Given the description of an element on the screen output the (x, y) to click on. 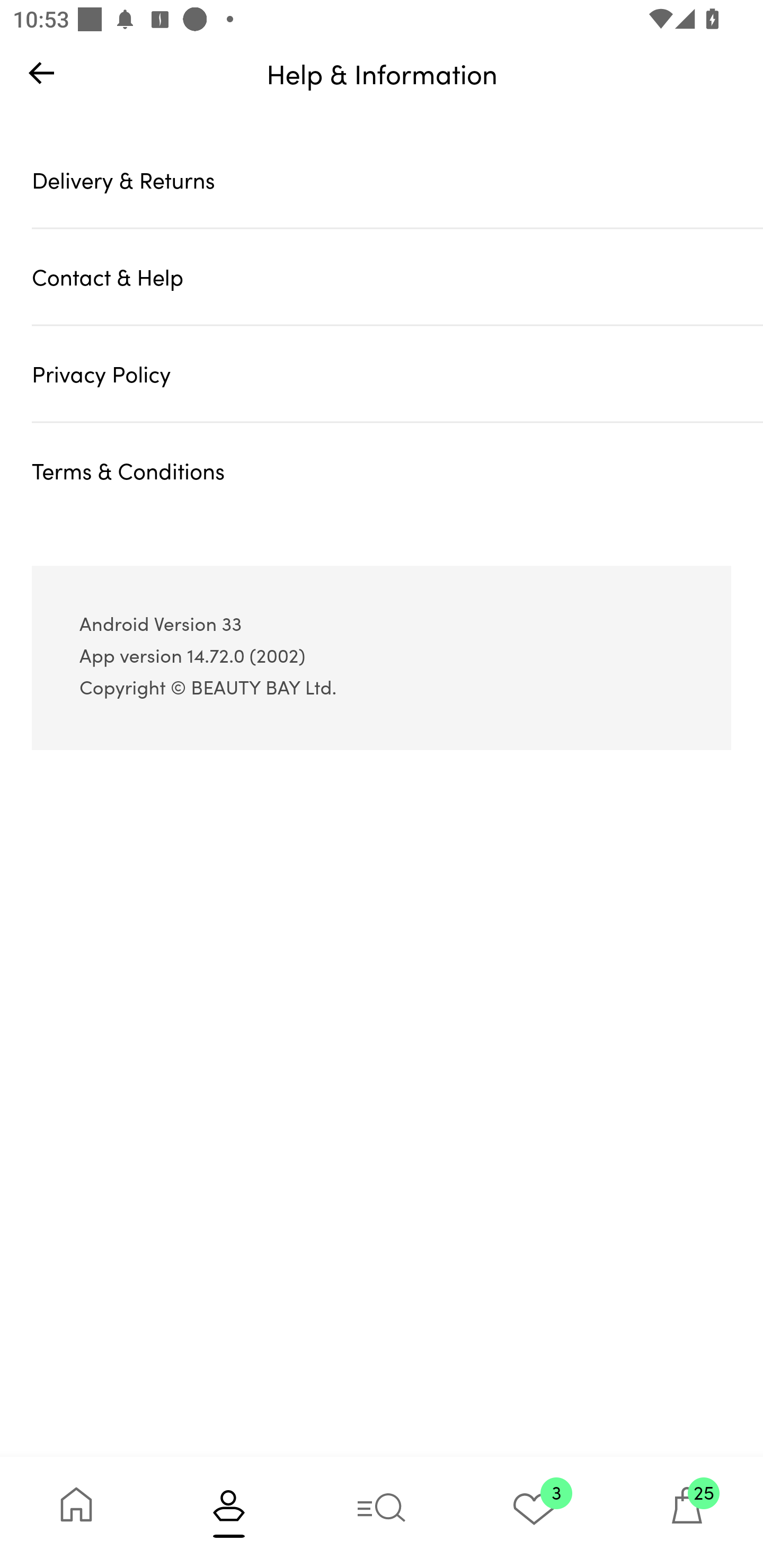
Delivery & Returns (397, 179)
Contact & Help (397, 276)
Privacy Policy (397, 373)
Terms & Conditions (397, 470)
3 (533, 1512)
25 (686, 1512)
